Given the description of an element on the screen output the (x, y) to click on. 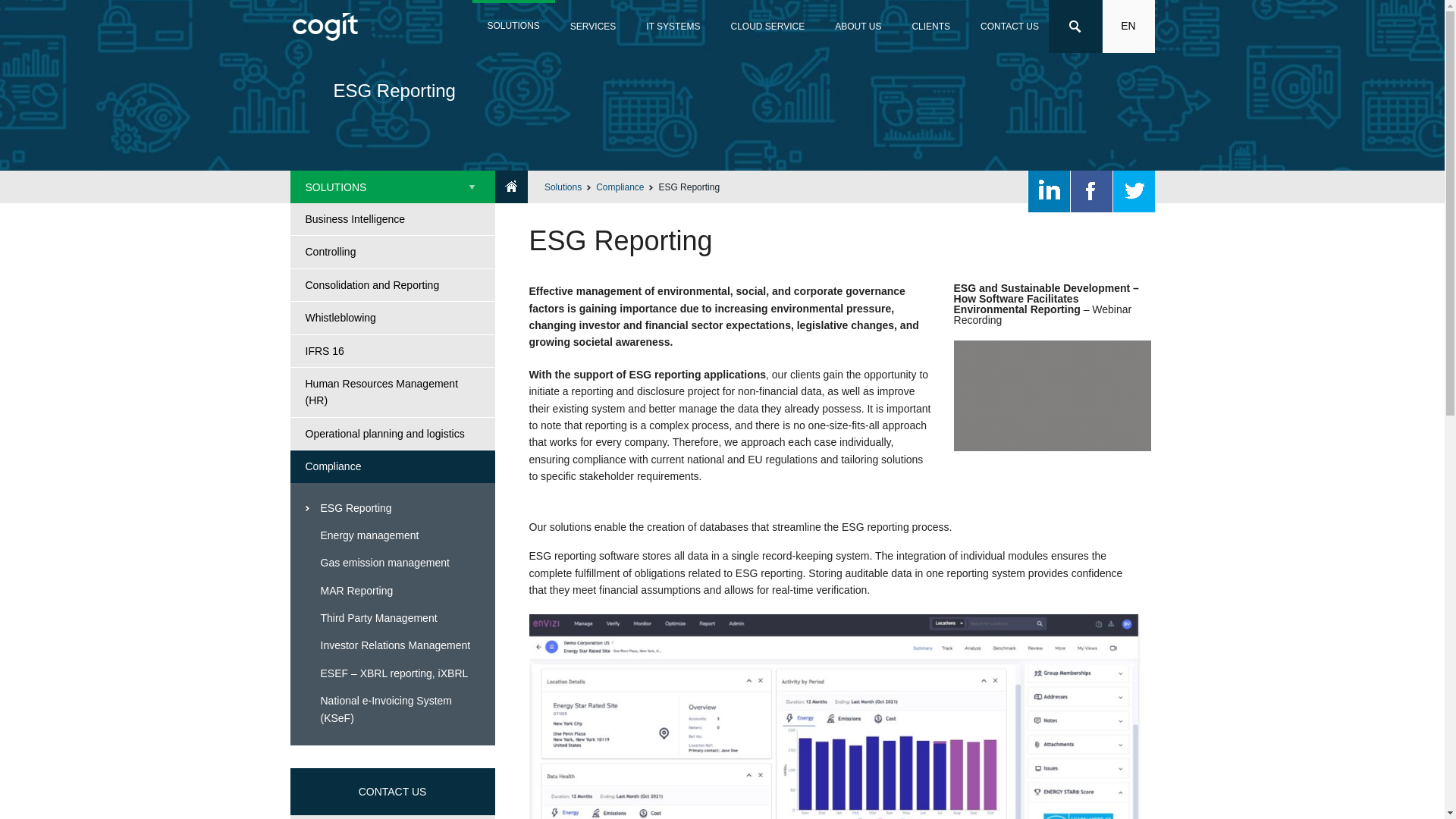
Obserwuj nas na LinkedIn (1048, 191)
Obserwuj nas na Twitterze (1133, 191)
Obserwuj nas na Facebooku (1091, 191)
SOLUTIONS (512, 26)
